Given the description of an element on the screen output the (x, y) to click on. 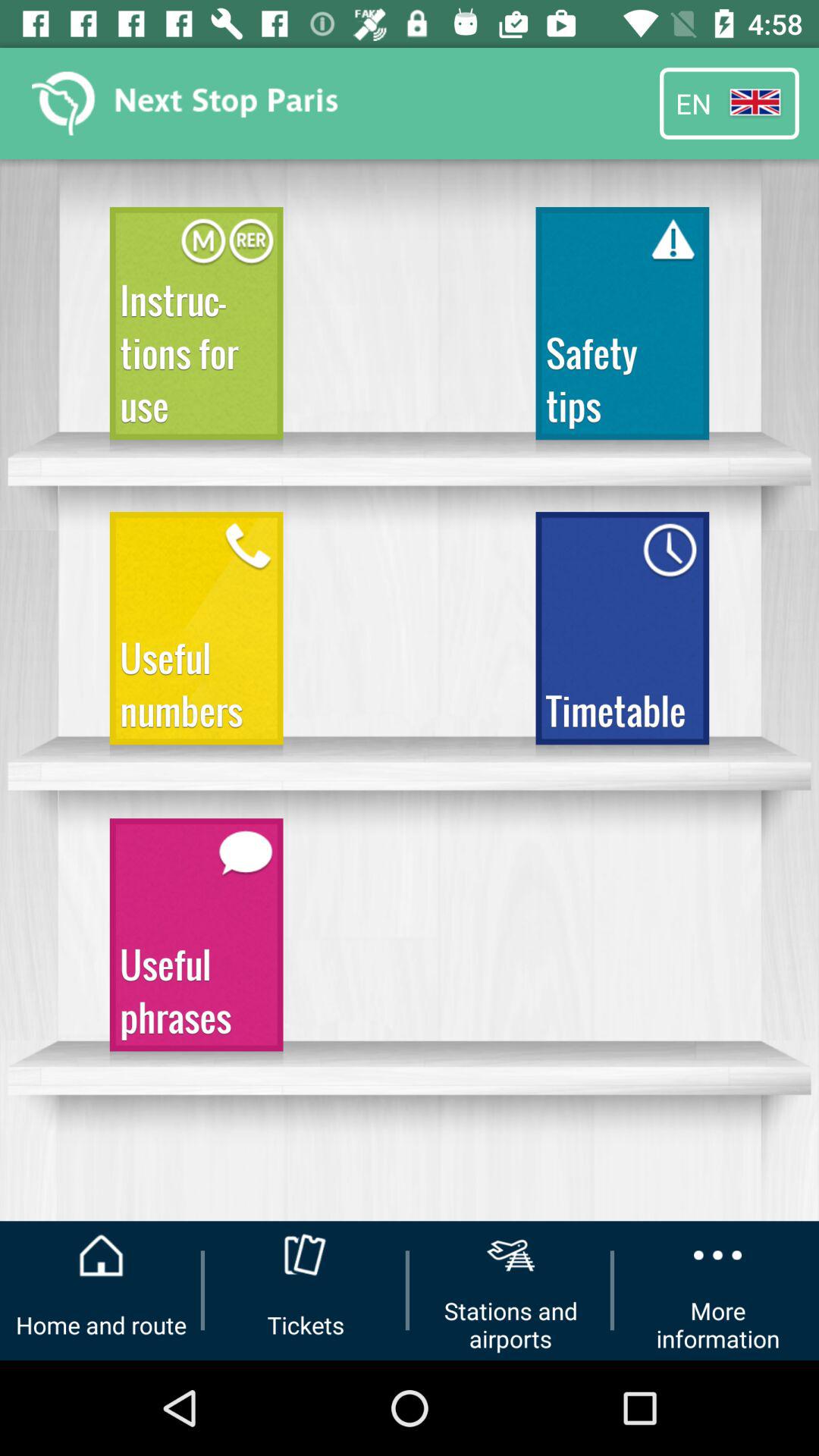
press the item to the right of the useful numbers icon (622, 634)
